Given the description of an element on the screen output the (x, y) to click on. 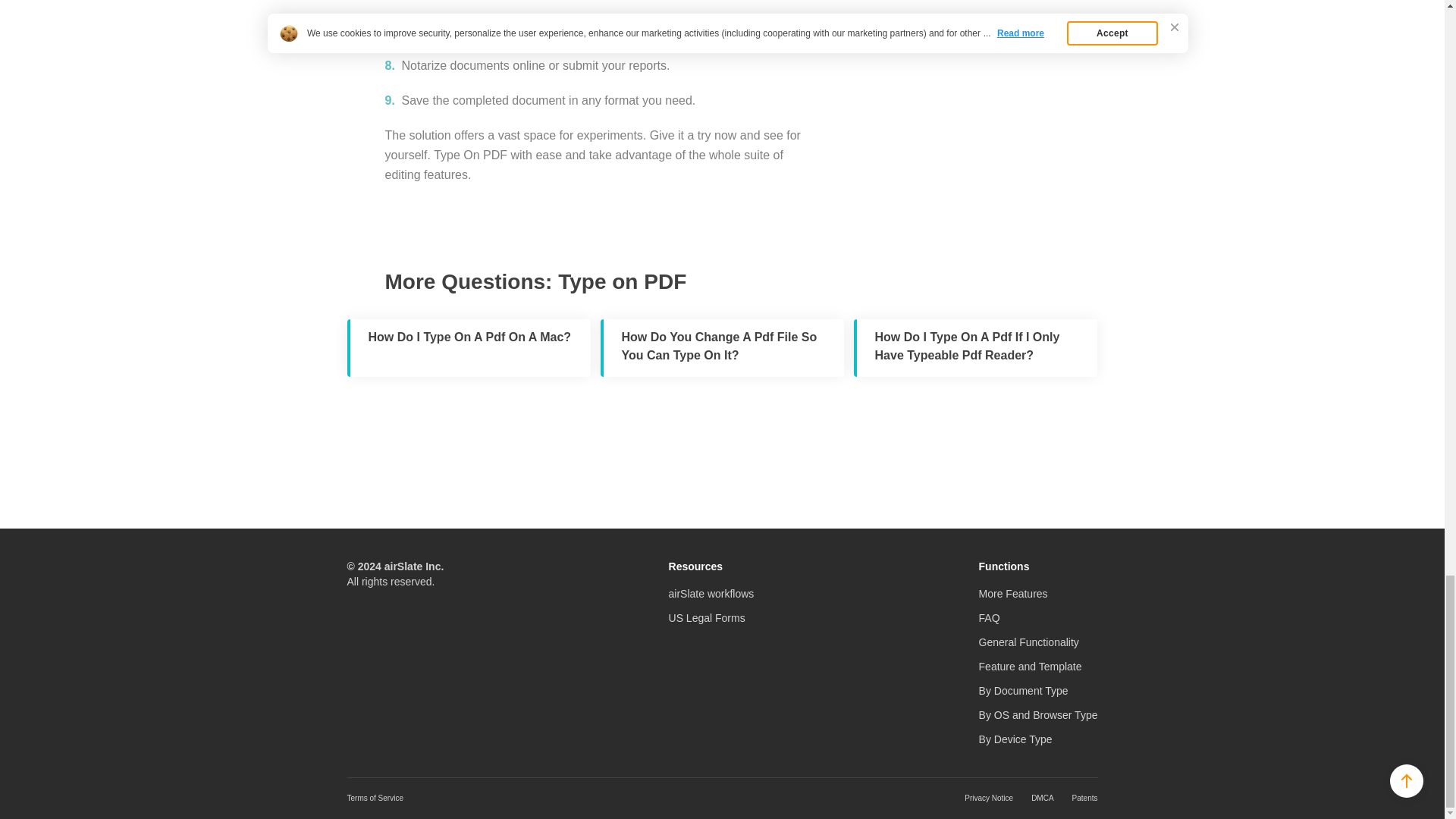
How Do I Type On A Pdf On A Mac? (469, 347)
US Legal Forms (706, 617)
General Functionality (1028, 642)
DMCA (1041, 798)
Patents (1084, 798)
Privacy Notice (988, 798)
By Document Type (1023, 690)
FAQ (989, 617)
By Device Type (1015, 739)
Feature and Template (1029, 666)
airSlate workflows (711, 593)
How Do You Change A Pdf File So You Can Type On It? (721, 347)
How Do I Type On A Pdf If I Only Have Typeable Pdf Reader? (975, 347)
More Features (1013, 593)
Terms of Service (375, 797)
